Given the description of an element on the screen output the (x, y) to click on. 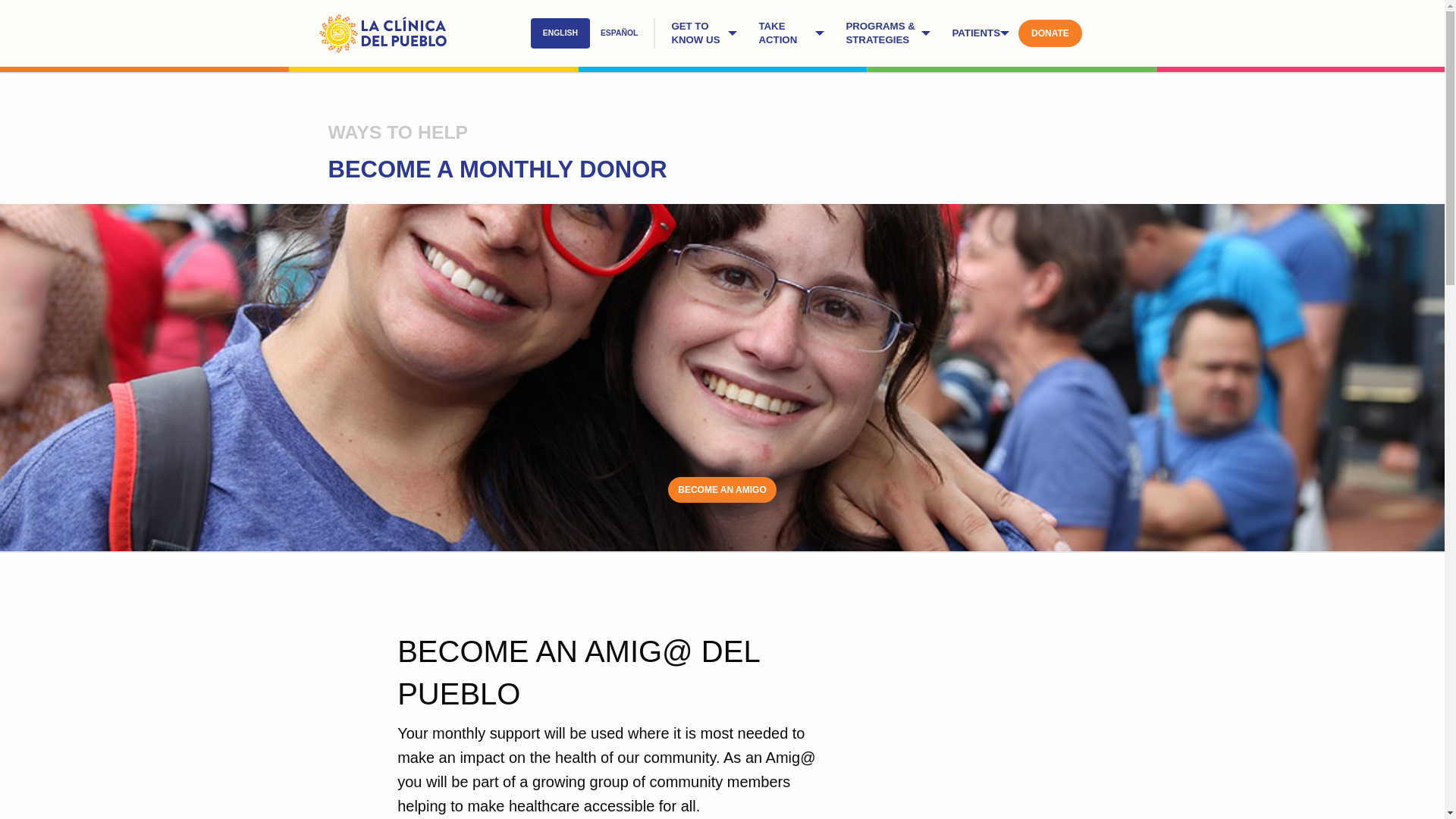
PATIENTS (978, 33)
ENGLISH (560, 33)
BECOME AN AMIGO (722, 489)
GET TO KNOW US (702, 33)
DONATE (1049, 32)
TAKE ACTION (788, 33)
